Given the description of an element on the screen output the (x, y) to click on. 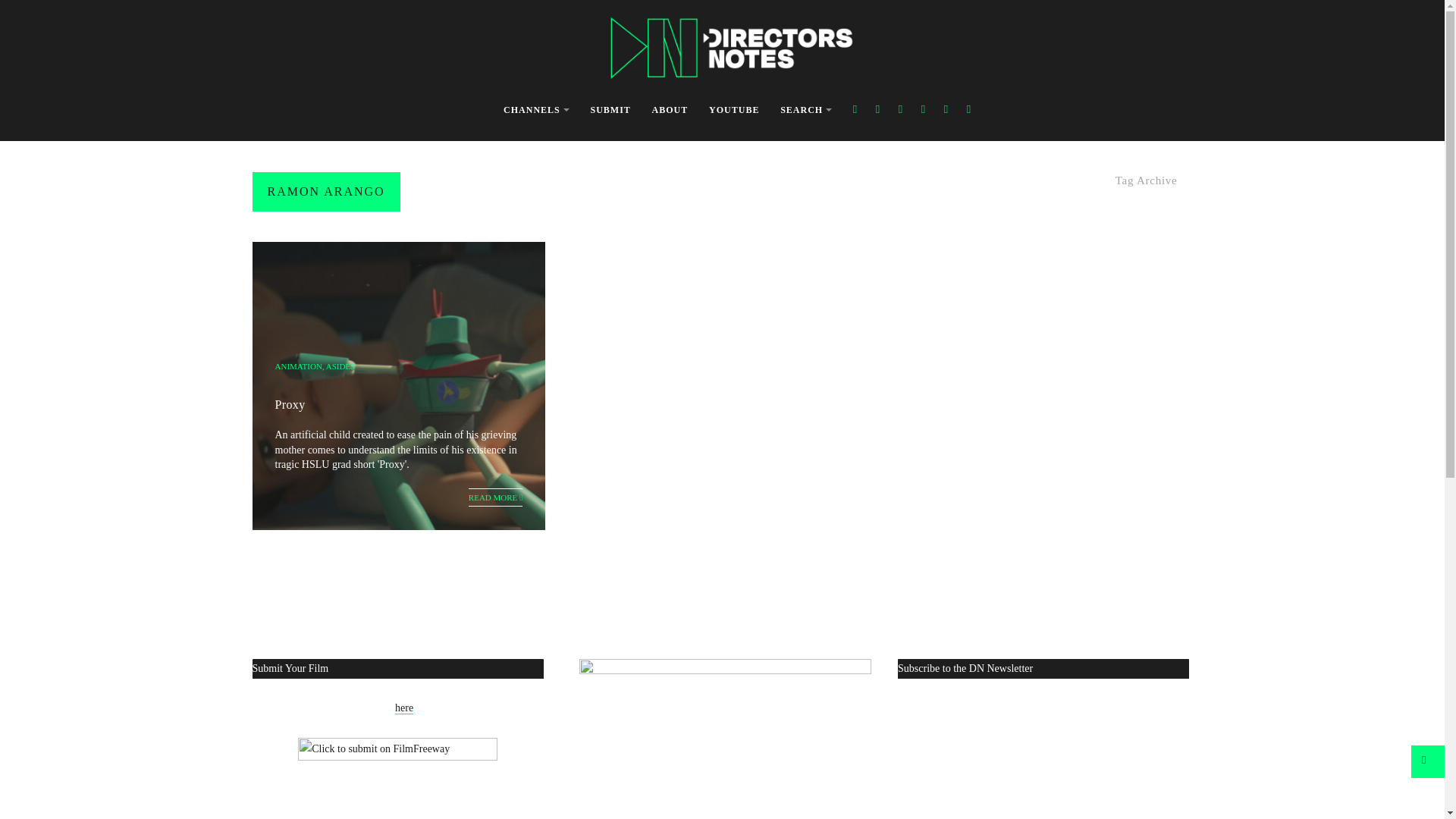
YOUTUBE (733, 110)
Instagram (900, 110)
You Tube (923, 110)
SUBMIT (610, 110)
Twitter (877, 110)
ABOUT (670, 110)
LinkedIn (968, 110)
SEARCH (805, 110)
Directors Notes on YouTube (724, 739)
ASIDES (340, 366)
READ MORE (495, 497)
CHANNELS (536, 110)
Vimeo (945, 110)
ANIMATION (298, 366)
Proxy (289, 404)
